Given the description of an element on the screen output the (x, y) to click on. 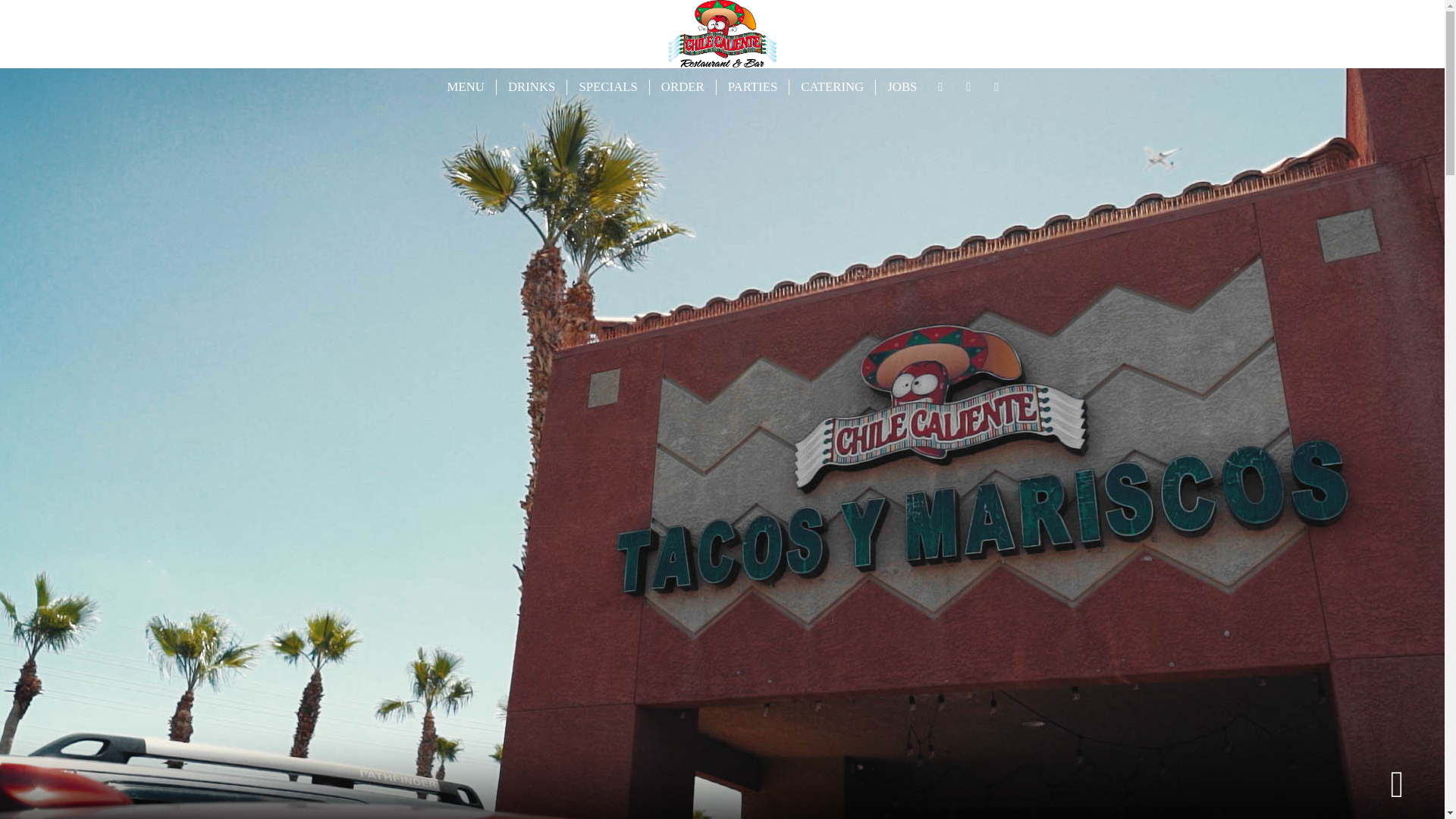
SPECIALS (608, 87)
JOBS (902, 87)
ORDER (682, 87)
CATERING (832, 87)
PARTIES (753, 87)
MENU (465, 87)
DRINKS (531, 87)
